Given the description of an element on the screen output the (x, y) to click on. 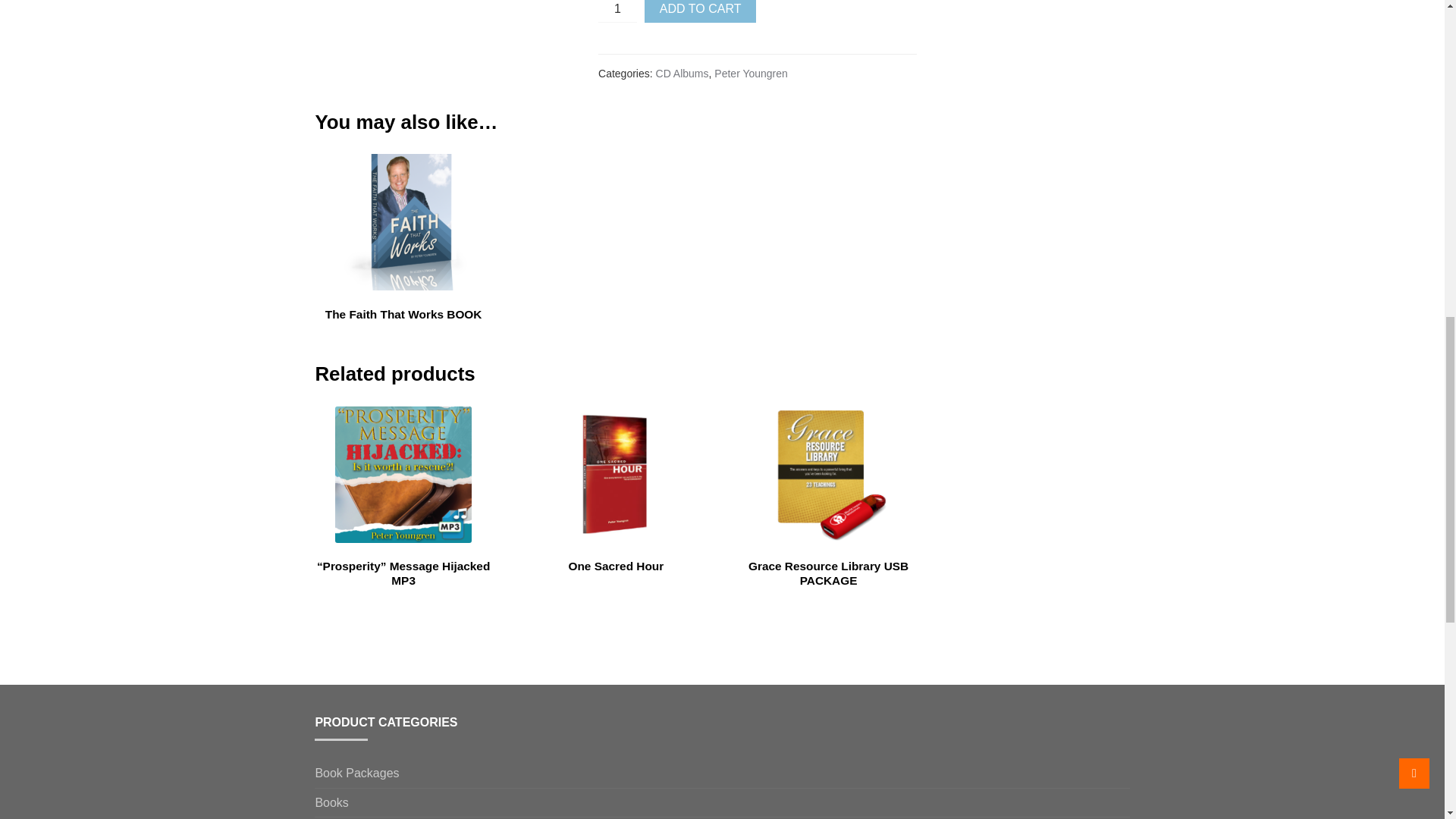
CD Albums (682, 73)
One Sacred Hour (615, 490)
CD Albums (344, 818)
The Faith That Works BOOK (403, 237)
Grace Resource Library USB PACKAGE (828, 497)
ADD TO CART (701, 11)
Peter Youngren (750, 73)
Book Packages (356, 773)
Books (330, 802)
Qty (617, 11)
1 (617, 11)
